Given the description of an element on the screen output the (x, y) to click on. 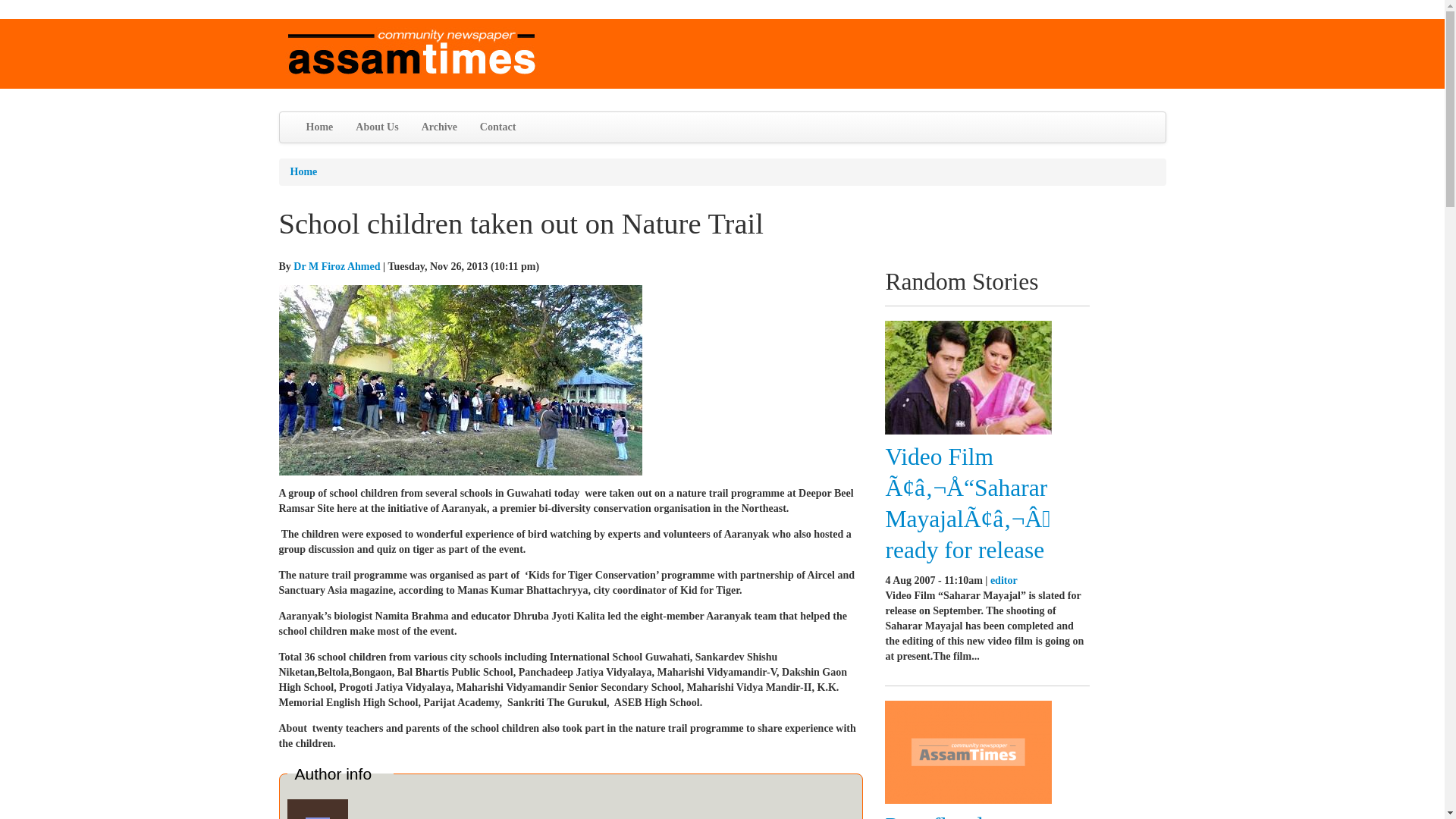
Return to the Assam Times home page (411, 52)
Home (303, 171)
View user profile. (1003, 580)
Contact (497, 127)
About Us (376, 127)
Dr M Firoz Ahmed's picture (316, 809)
Skip to content (32, 18)
Archive (439, 127)
Home (318, 127)
Dr M Firoz Ahmed (337, 266)
editor (1003, 580)
View user profile. (337, 266)
Post flood watery grave for 5 (968, 816)
